Given the description of an element on the screen output the (x, y) to click on. 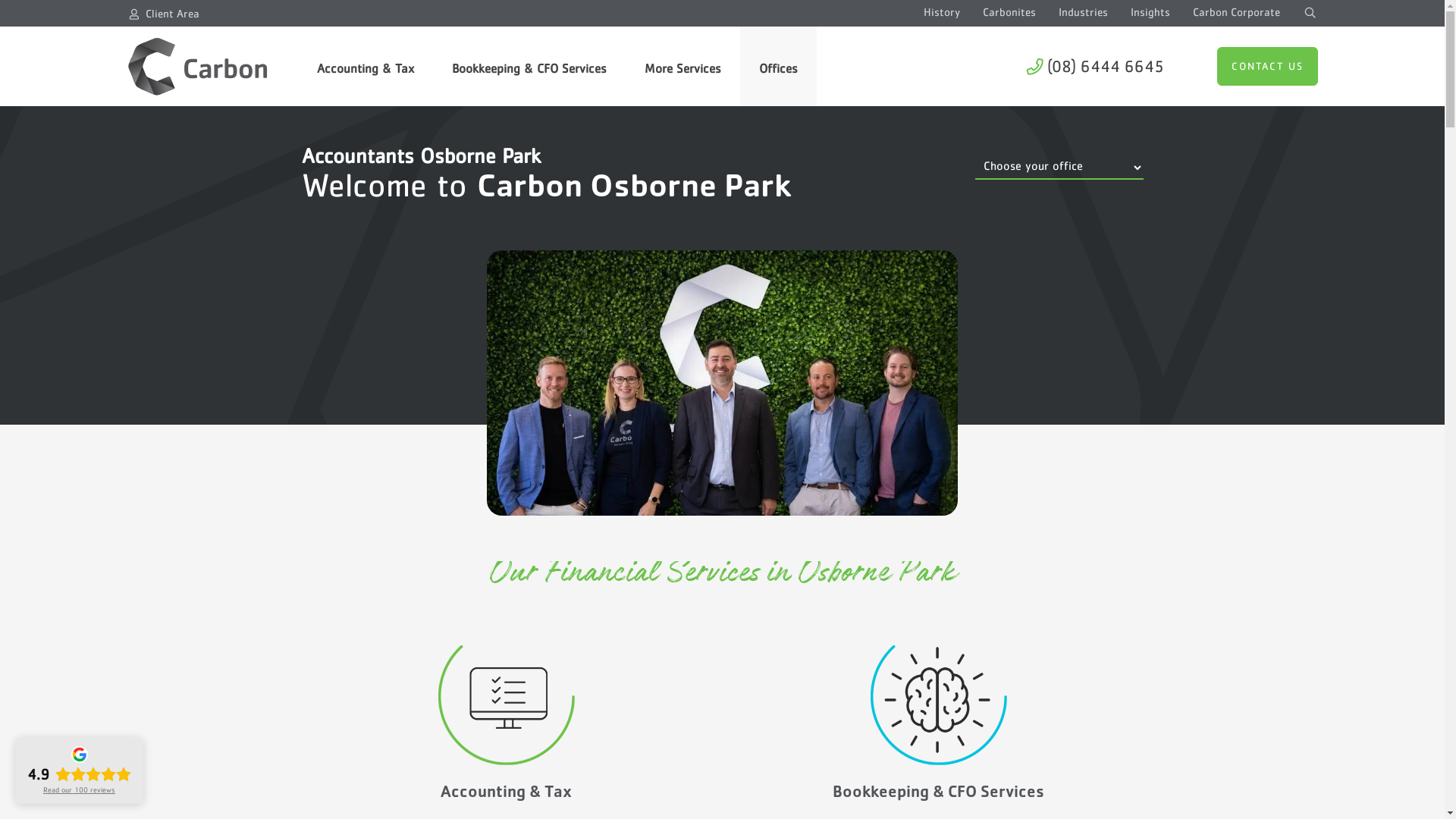
Client Area Element type: text (172, 12)
Carbon Group Element type: hover (197, 65)
CONTACT US Element type: text (1266, 66)
History Element type: text (941, 11)
More Services Element type: text (681, 65)
accountants and bookkeepers in Perth Element type: hover (721, 380)
Accounting & Tax Element type: text (364, 65)
(08) 6444 6645 Element type: text (1093, 65)
Bookkeeping & CFO Services Element type: text (938, 793)
Accounting & Tax Element type: text (505, 793)
Bookkeeping & CFO Services Element type: text (528, 65)
Industries Element type: text (1082, 11)
Insights Element type: text (1149, 11)
Carbon Corporate Element type: text (1235, 11)
Offices Element type: text (778, 65)
Carbonites Element type: text (1008, 11)
